Given the description of an element on the screen output the (x, y) to click on. 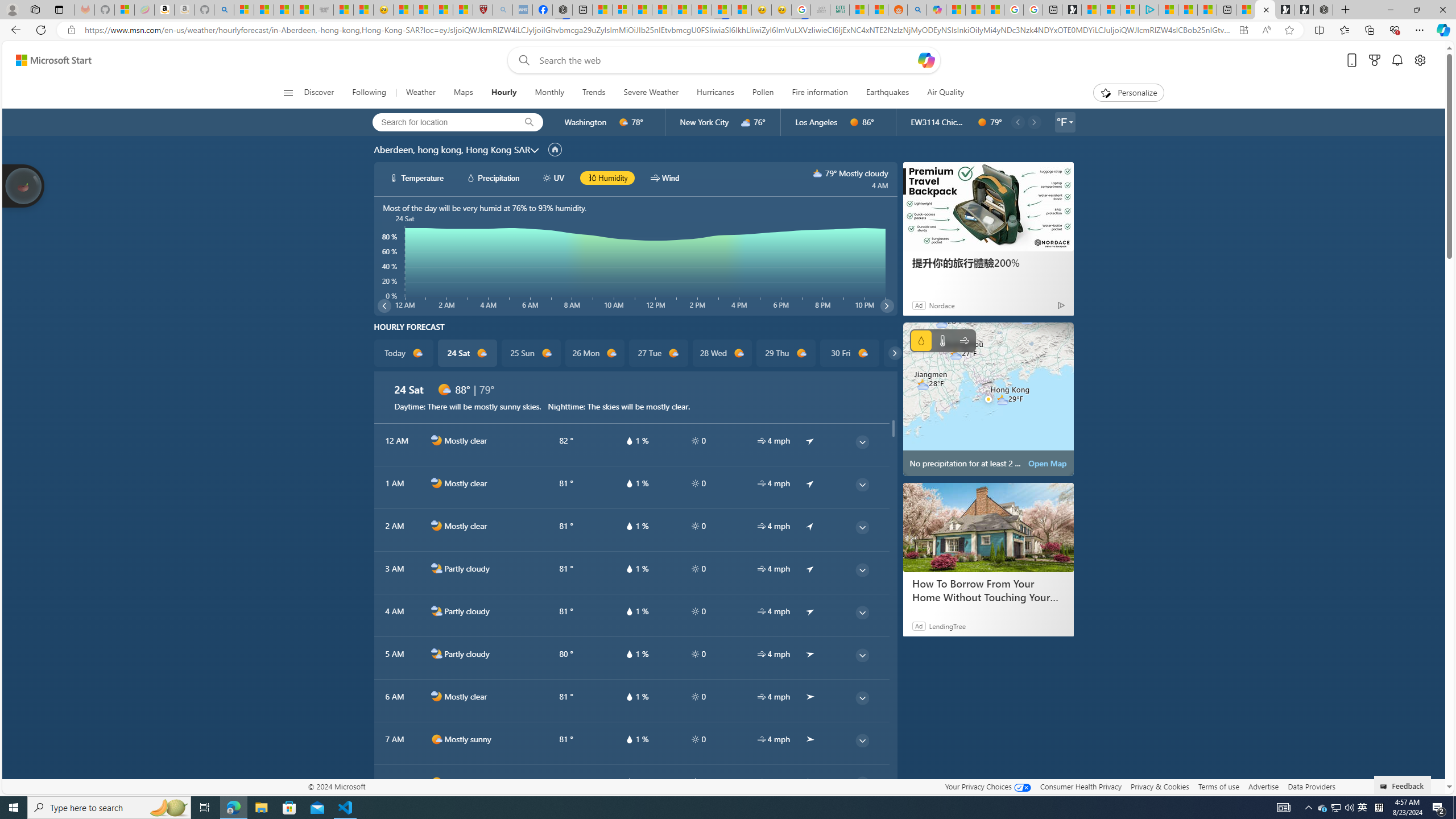
Trends (593, 92)
Fire information (820, 92)
Class: feedback_link_icon-DS-EntryPoint1-1 (1384, 786)
24 Sat d1000 (466, 352)
